Given the description of an element on the screen output the (x, y) to click on. 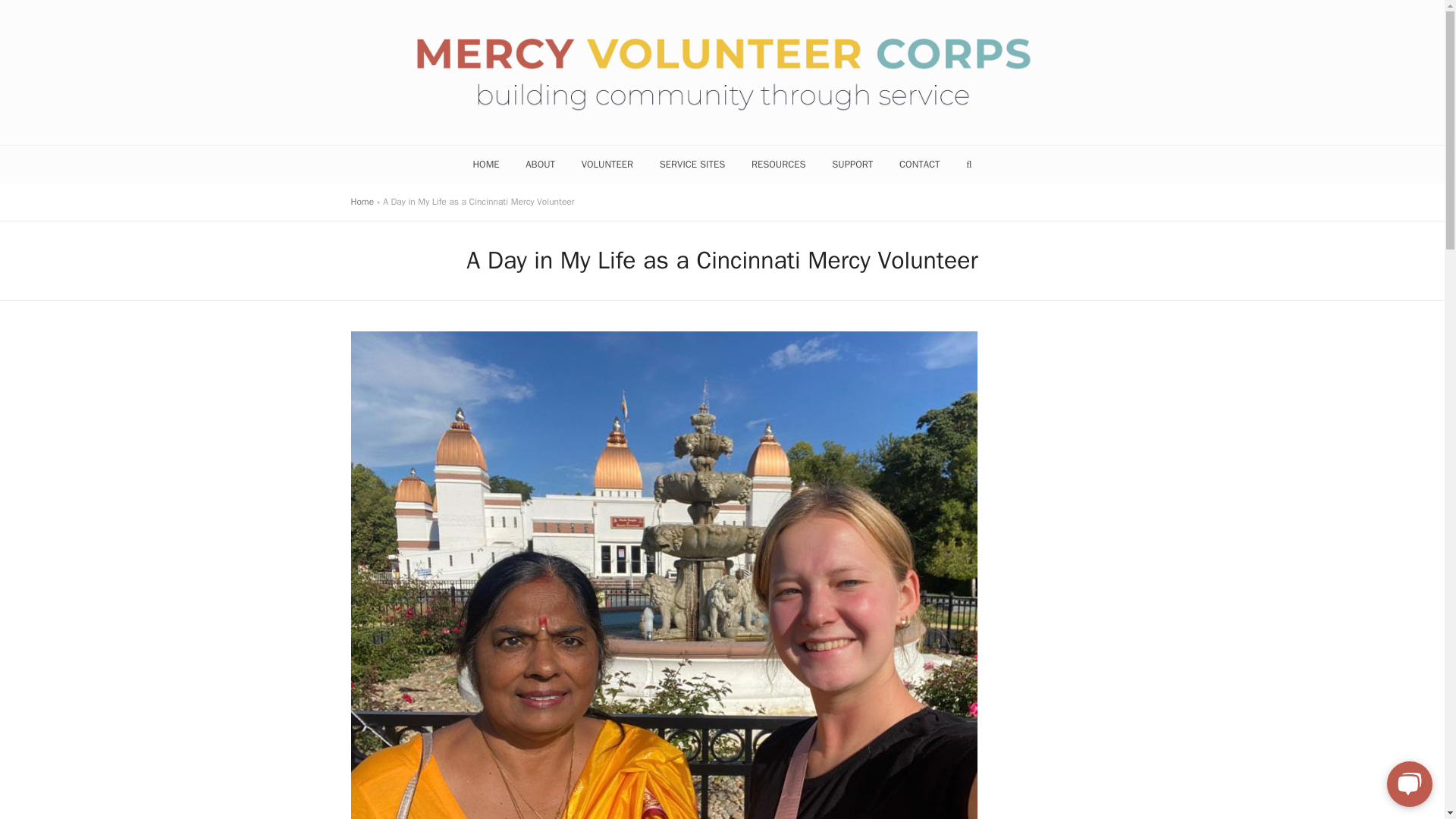
RESOURCES (777, 164)
HOME (486, 164)
SUPPORT (853, 164)
ABOUT (540, 164)
SERVICE SITES (691, 164)
VOLUNTEER (607, 164)
